Given the description of an element on the screen output the (x, y) to click on. 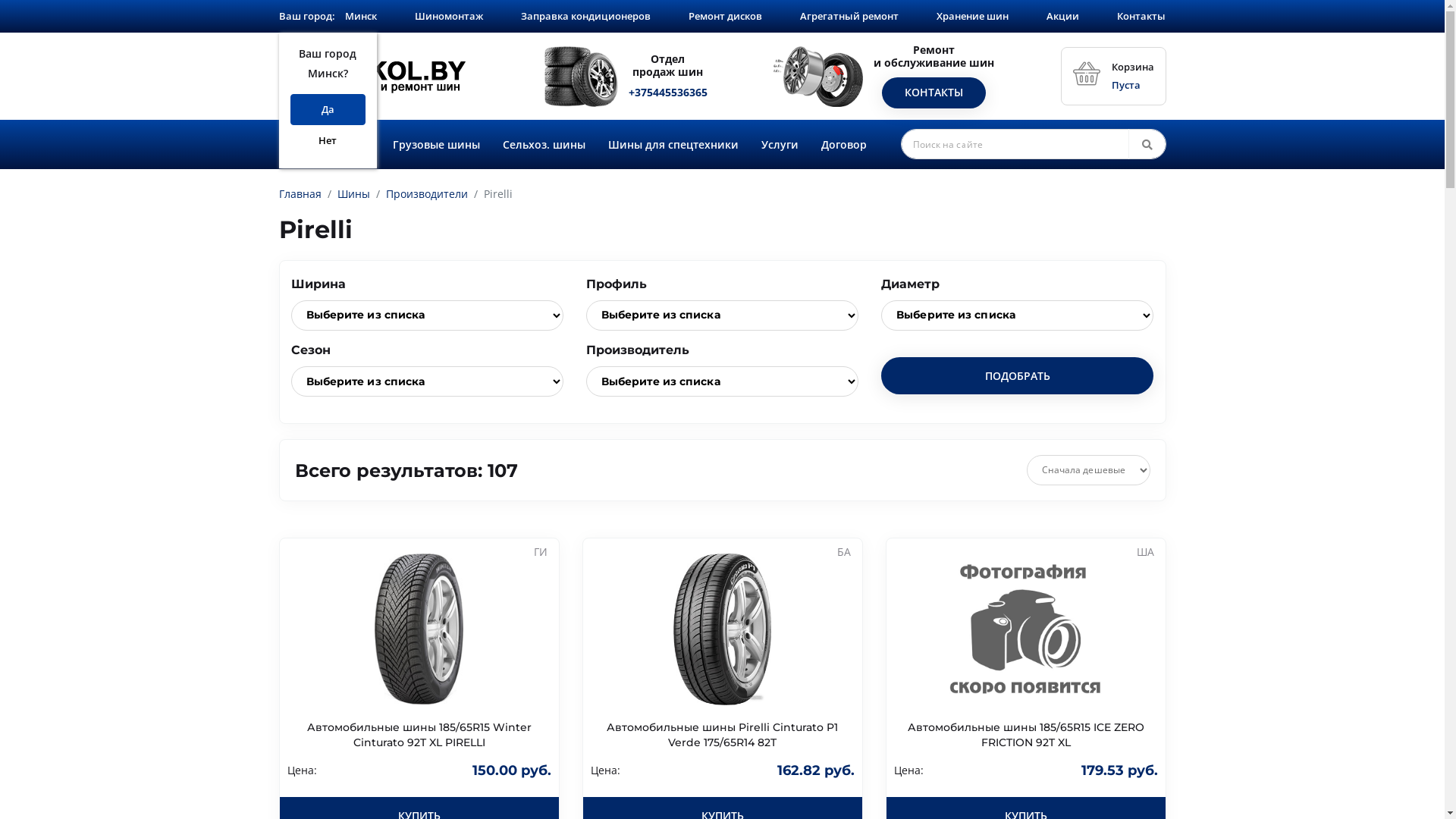
+375445536365 Element type: text (667, 91)
